Given the description of an element on the screen output the (x, y) to click on. 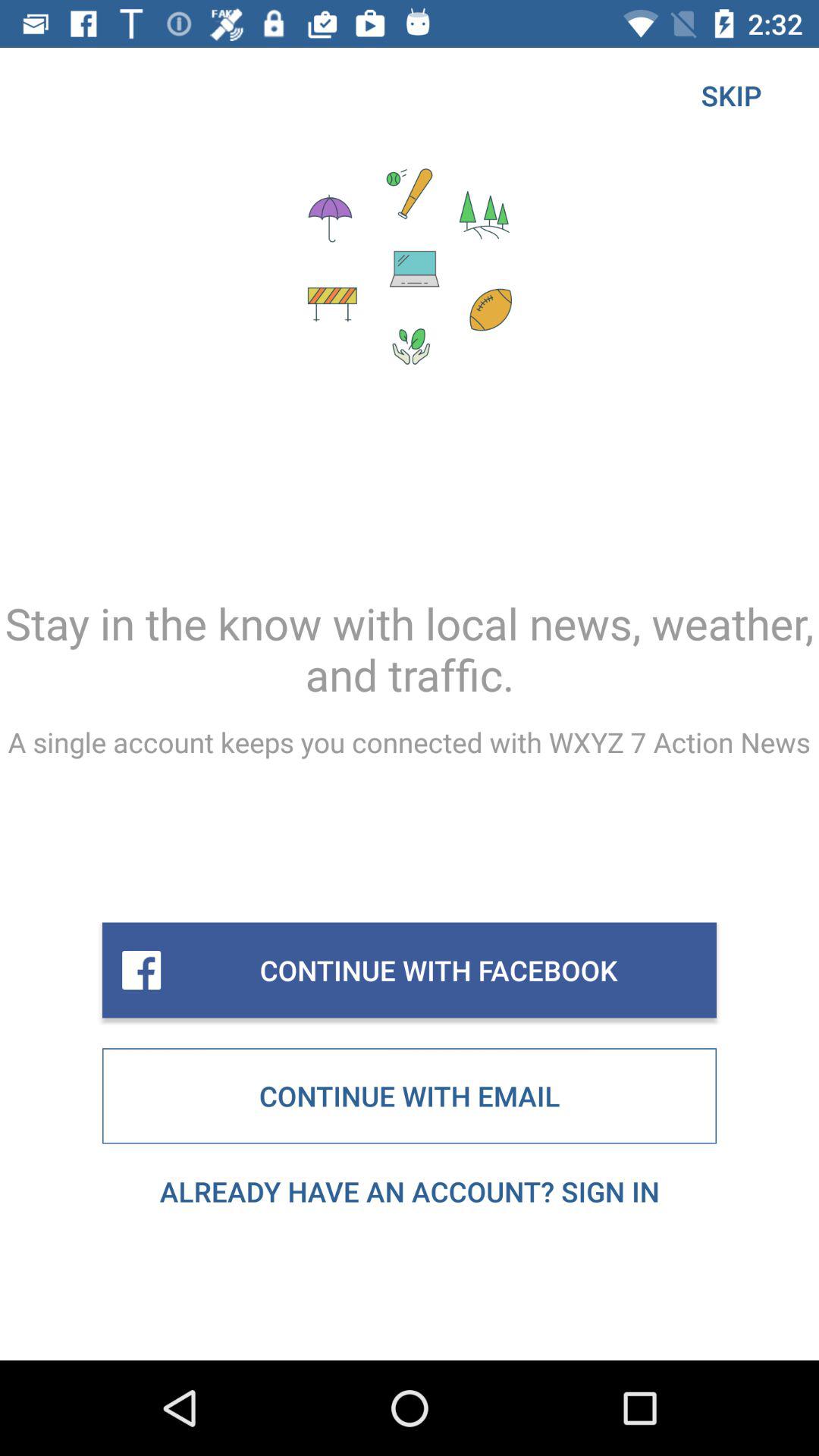
turn off skip icon (731, 95)
